Given the description of an element on the screen output the (x, y) to click on. 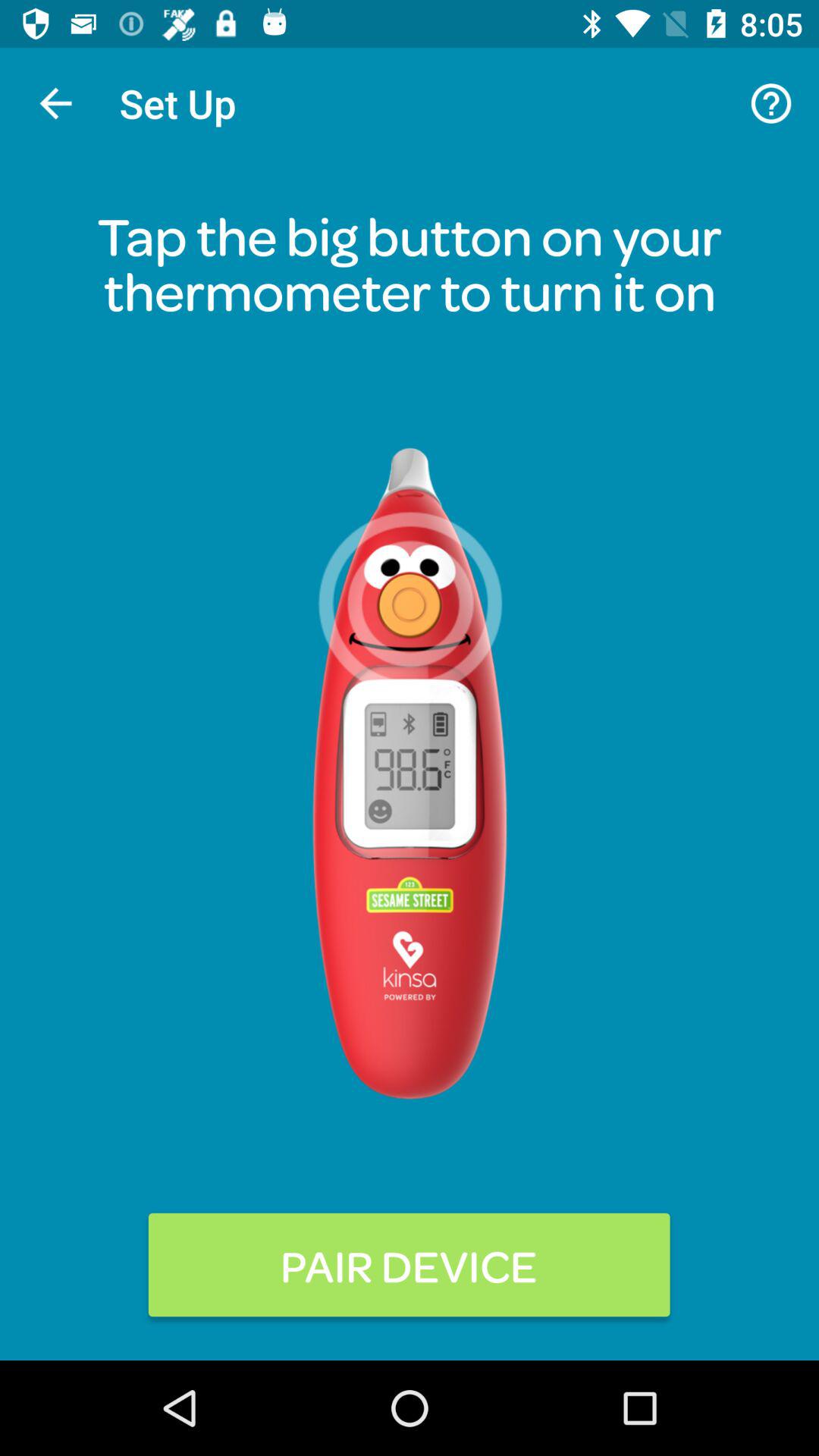
select the item next to set up icon (55, 103)
